Given the description of an element on the screen output the (x, y) to click on. 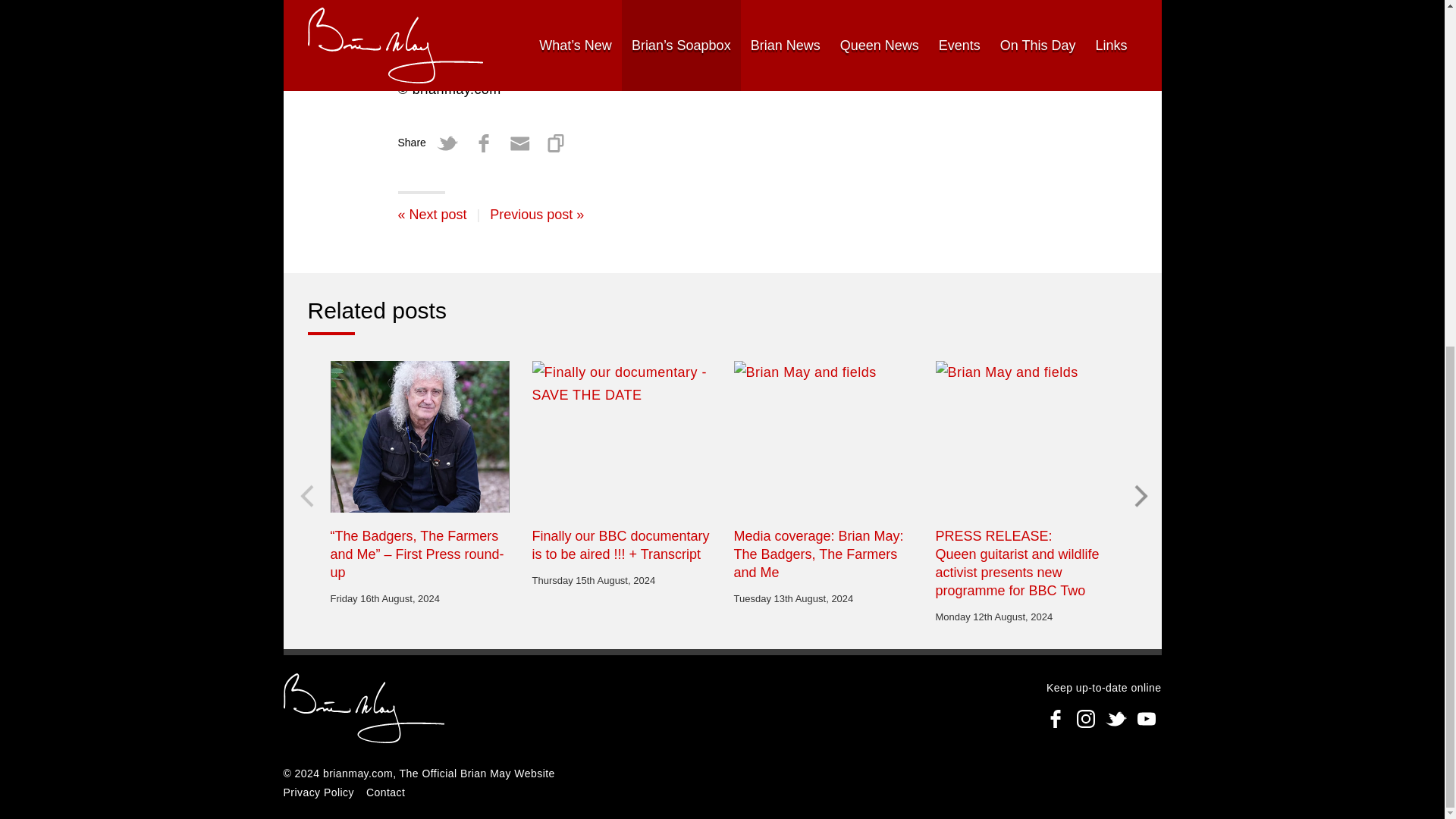
Follow Brian May on YouTube (1146, 718)
Follow BrianMay.com on facebook (1055, 718)
Last day rehearsals - WWRY the last night (431, 214)
This and that... (536, 214)
brianmay.com (364, 710)
brianmay.com (358, 773)
Follow Brian May on Twitter (1115, 718)
Follow BrianMay.com on Instagram (1085, 718)
